Given the description of an element on the screen output the (x, y) to click on. 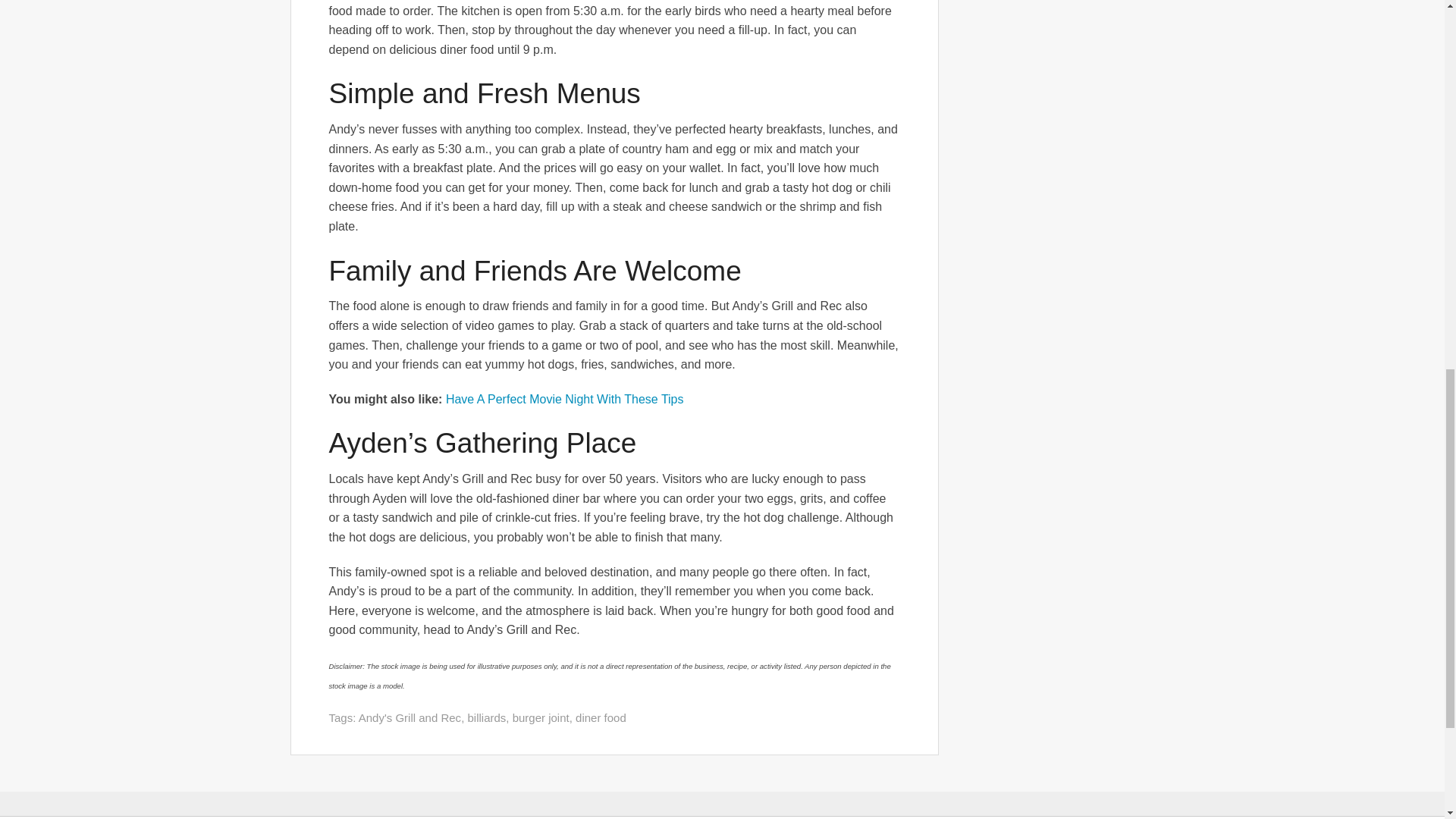
Have A Perfect Movie Night With These Tips (564, 399)
billiards (486, 717)
Andy's Grill and Rec (409, 717)
diner food (600, 717)
burger joint (540, 717)
